Given the description of an element on the screen output the (x, y) to click on. 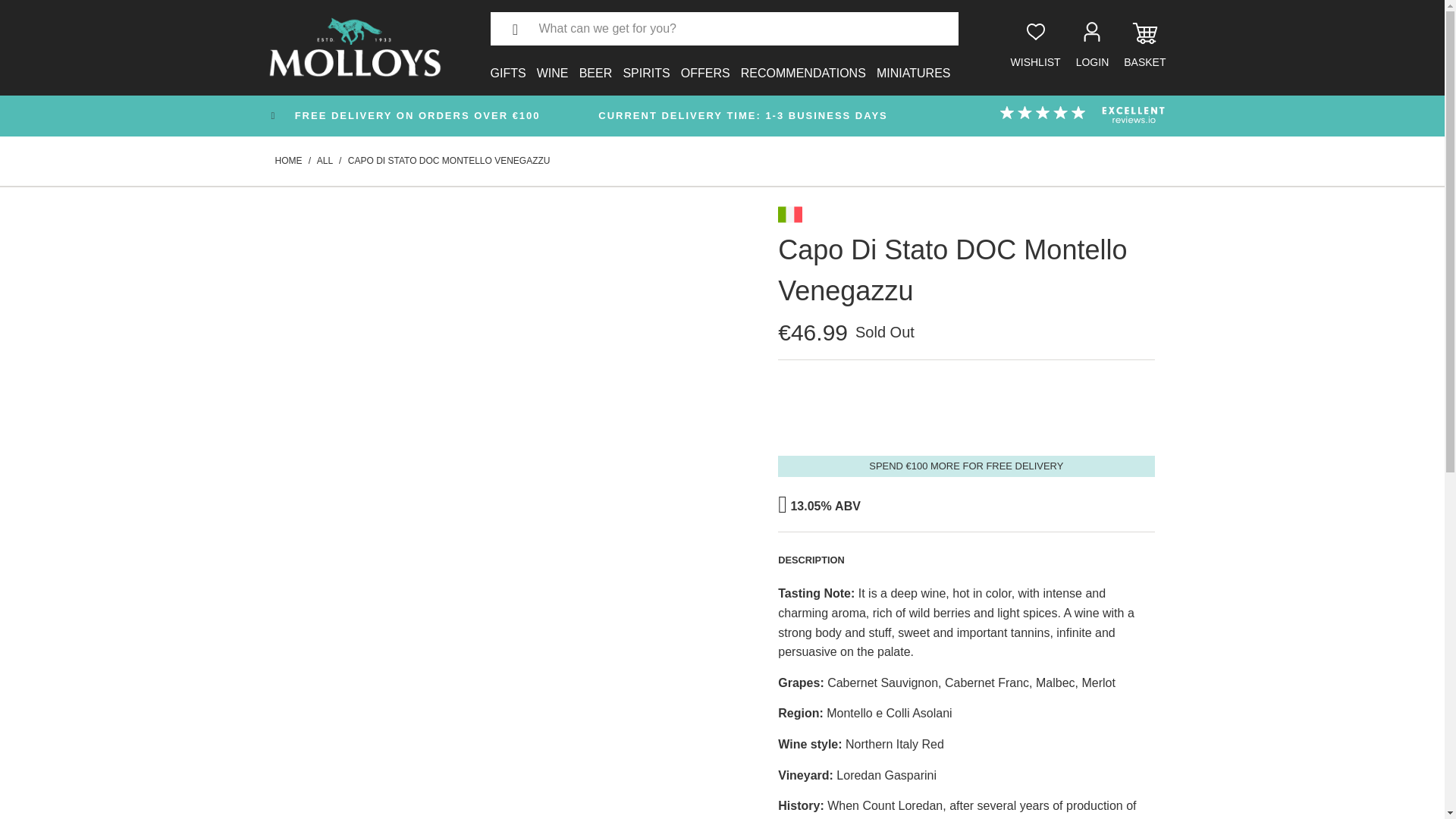
GIFTS (507, 64)
Molloys Liquor Stores (288, 160)
SPIRITS (646, 64)
All (325, 160)
OFFERS (705, 64)
MINIATURES (913, 64)
RECOMMENDATIONS (803, 64)
